Given the description of an element on the screen output the (x, y) to click on. 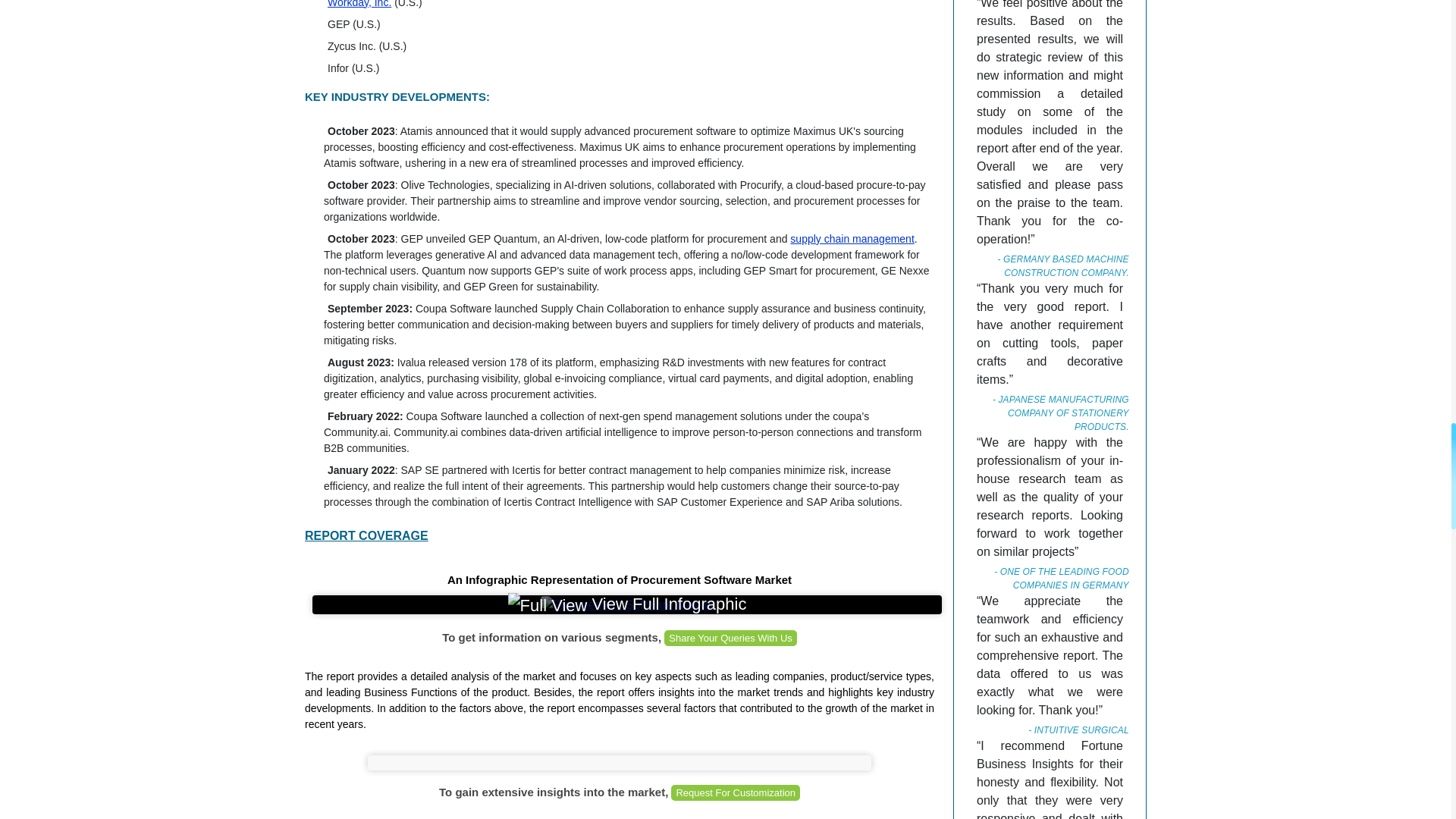
Procurement Software Market (627, 605)
